Given the description of an element on the screen output the (x, y) to click on. 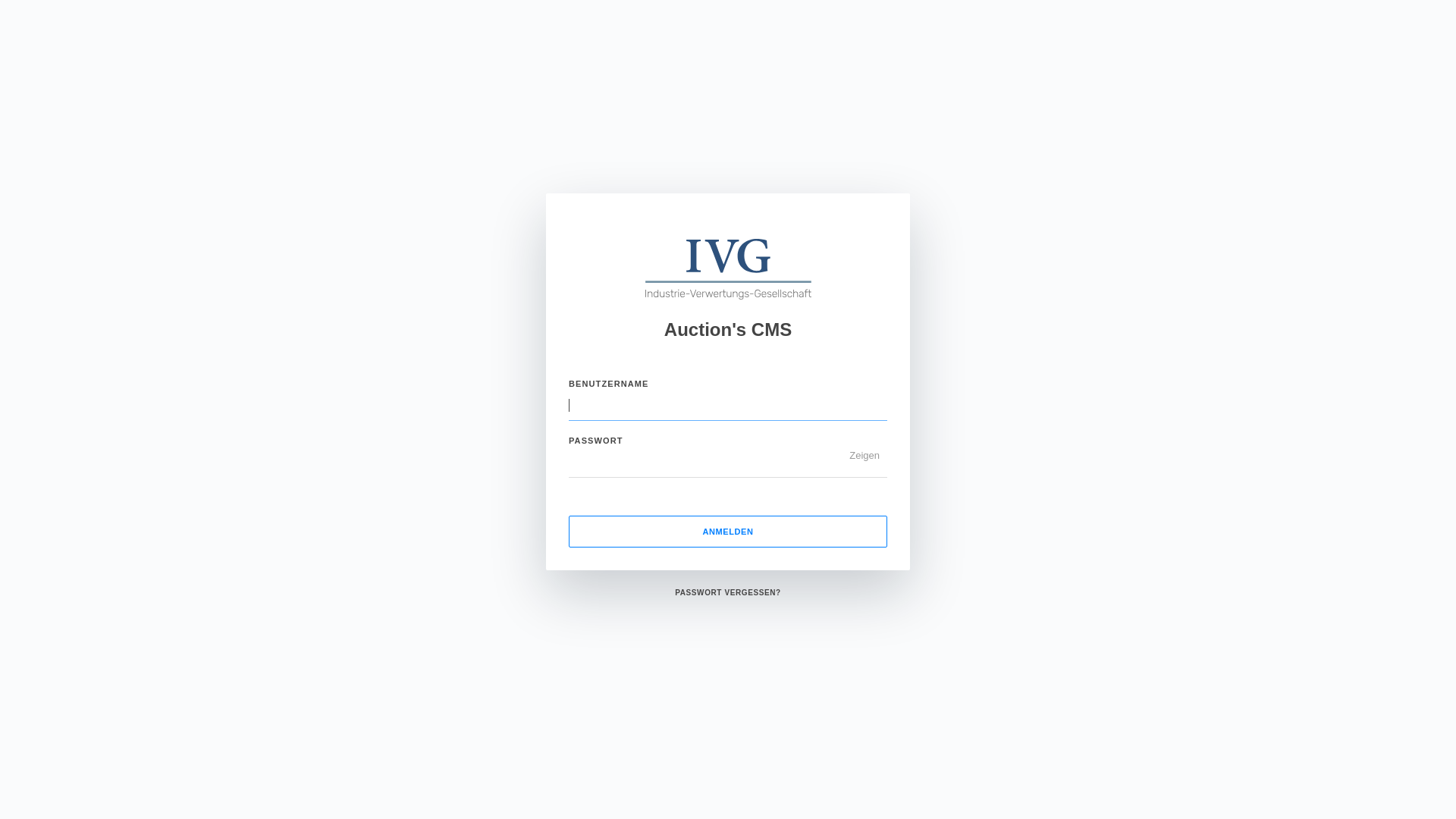
PASSWORT VERGESSEN? Element type: text (727, 592)
Zeigen Element type: text (864, 455)
ANMELDEN Element type: text (727, 531)
